Given the description of an element on the screen output the (x, y) to click on. 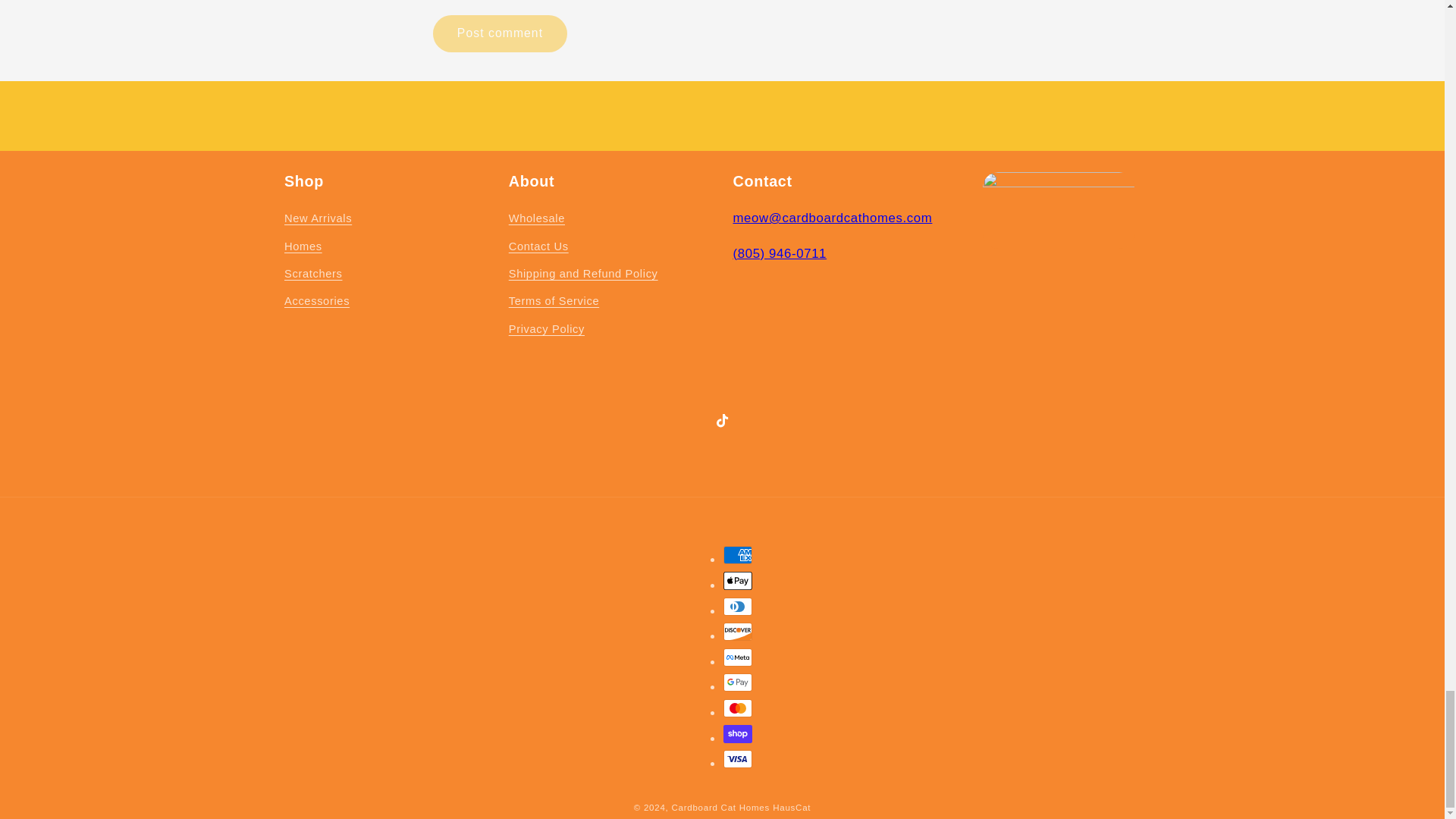
Mastercard (737, 708)
American Express (737, 555)
Discover (737, 631)
Shop Pay (737, 733)
Visa (737, 759)
Post comment (499, 33)
tel:8059460711 (779, 253)
Google Pay (737, 682)
Diners Club (737, 606)
Meta Pay (737, 657)
